Given the description of an element on the screen output the (x, y) to click on. 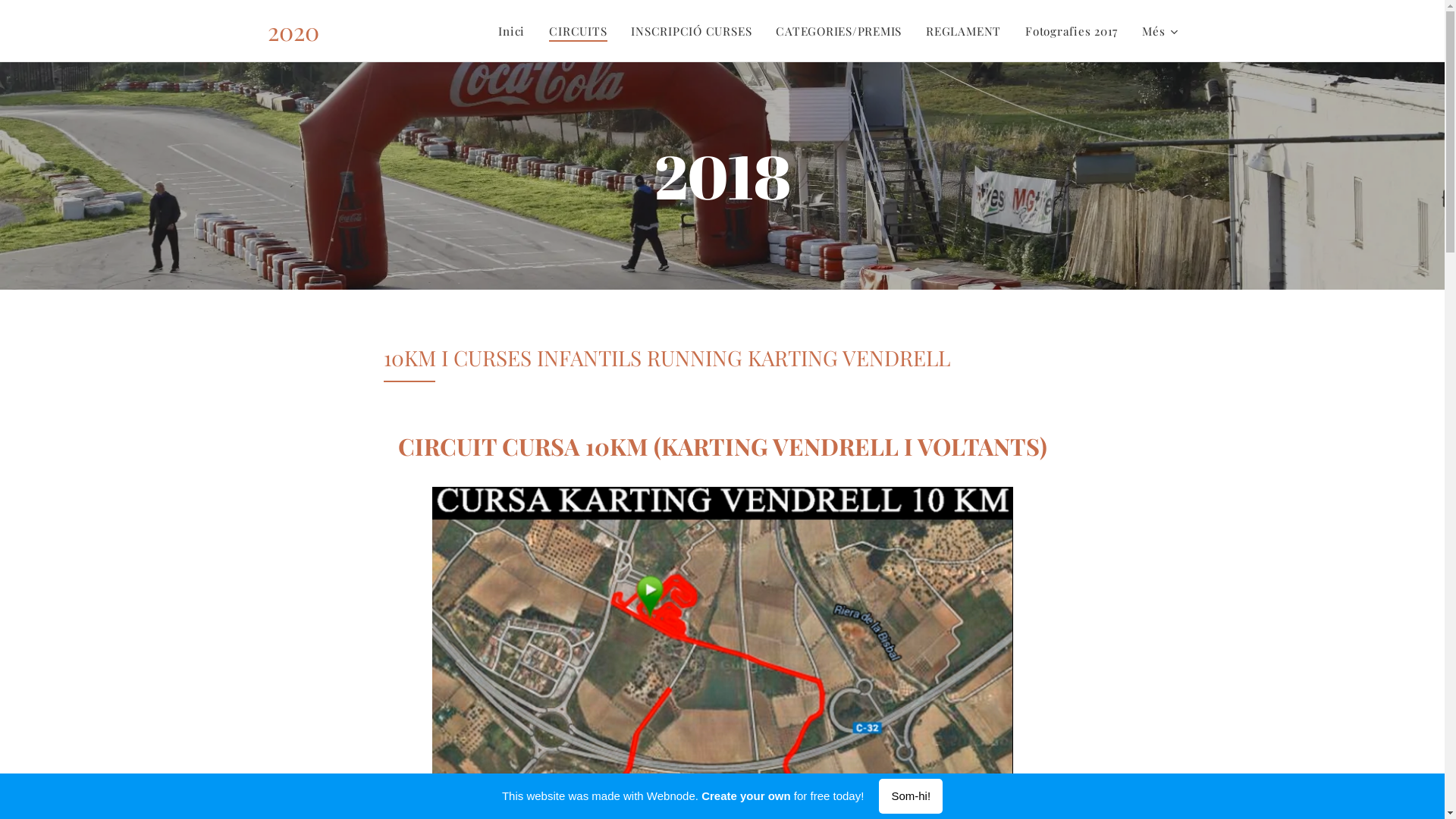
CATEGORIES/PREMIS Element type: text (838, 31)
REGLAMENT Element type: text (963, 31)
Inici Element type: text (515, 31)
2020 Element type: text (292, 30)
Fotografies 2017 Element type: text (1071, 31)
CIRCUITS Element type: text (577, 31)
